Given the description of an element on the screen output the (x, y) to click on. 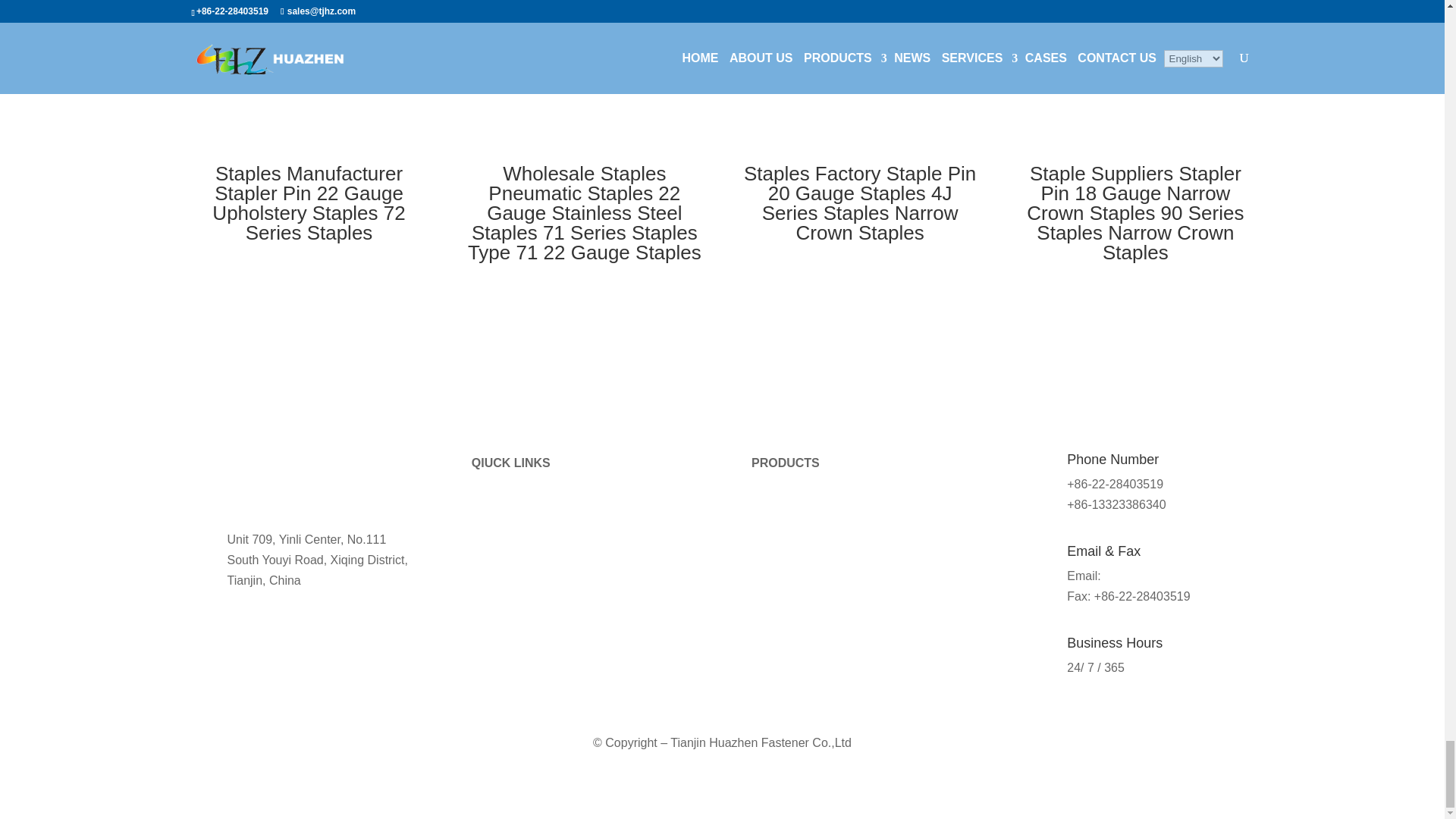
Follow on Facebook (202, 661)
Follow on Youtube (233, 661)
logo (242, 475)
